Given the description of an element on the screen output the (x, y) to click on. 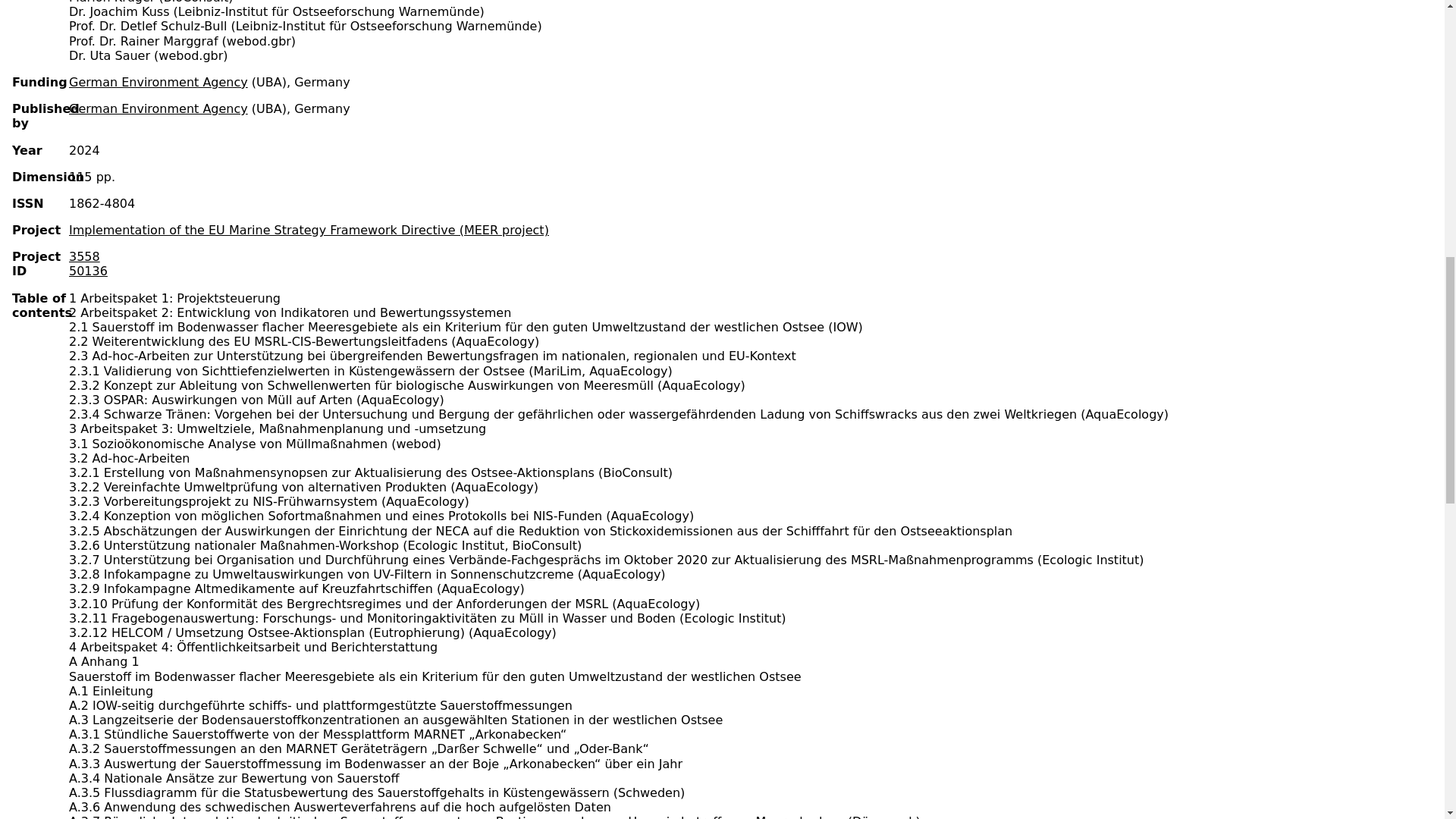
50136 (87, 270)
3558 (84, 256)
German Environment Agency (157, 82)
German Environment Agency (157, 108)
